Given the description of an element on the screen output the (x, y) to click on. 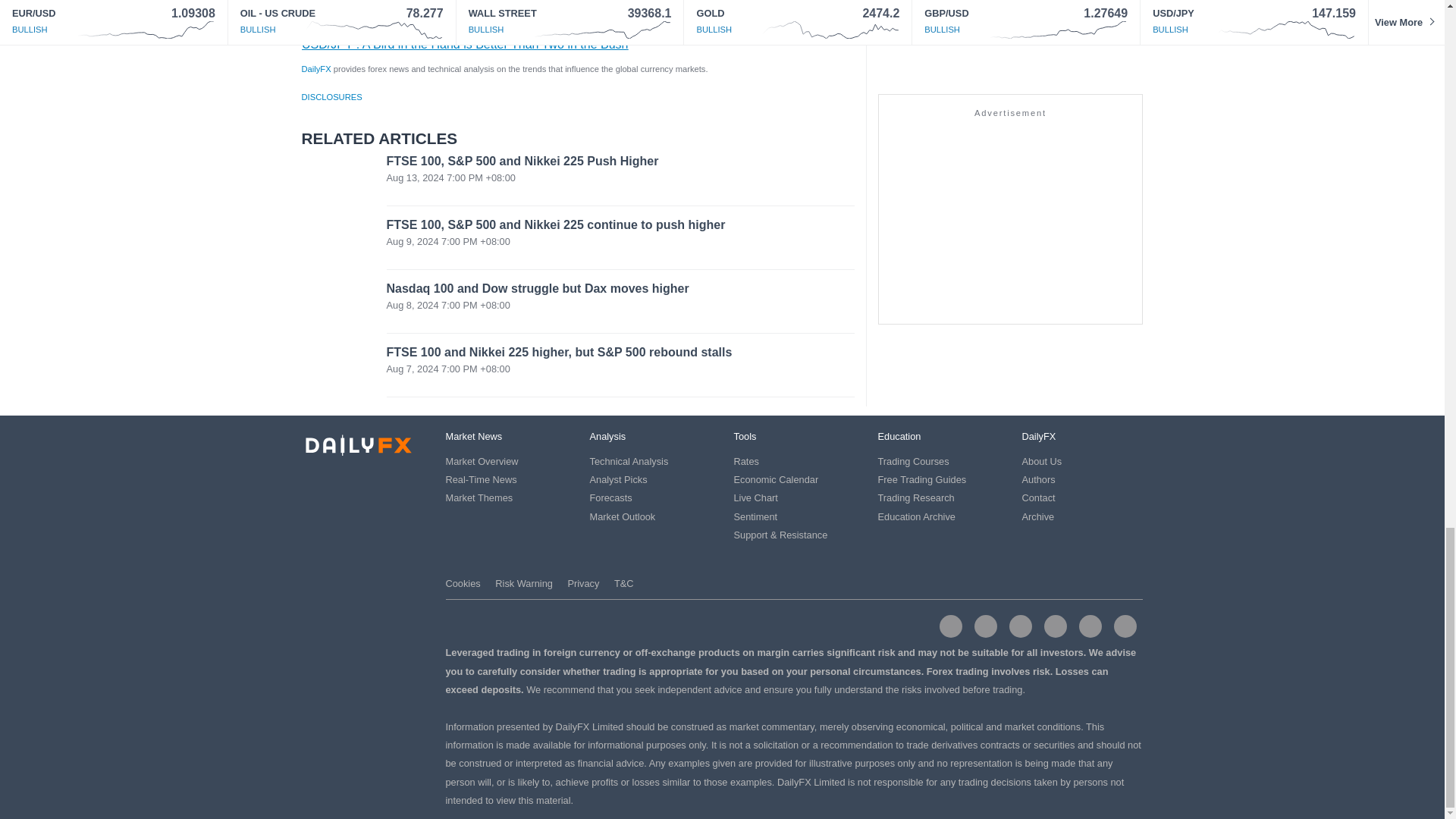
Analysis (607, 436)
Real-Time News (480, 479)
Trading Research (916, 497)
Market Outlook (622, 516)
Tools (745, 436)
Market Themes (479, 497)
Analyst Picks (618, 479)
Live Chart (755, 497)
Free Trading Guides (921, 479)
Technical Analysis (628, 460)
